Given the description of an element on the screen output the (x, y) to click on. 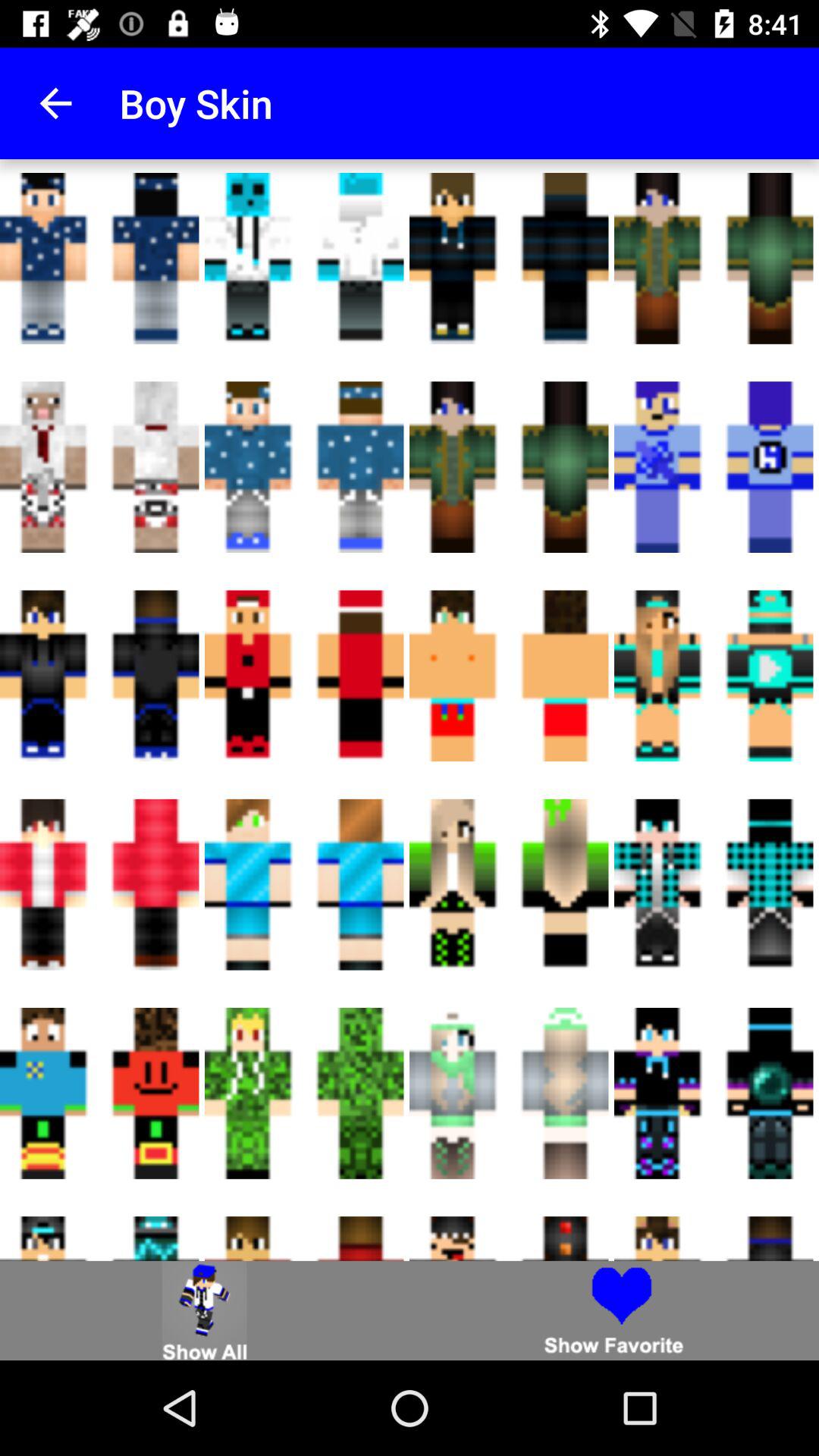
show favorite skins (614, 1310)
